Given the description of an element on the screen output the (x, y) to click on. 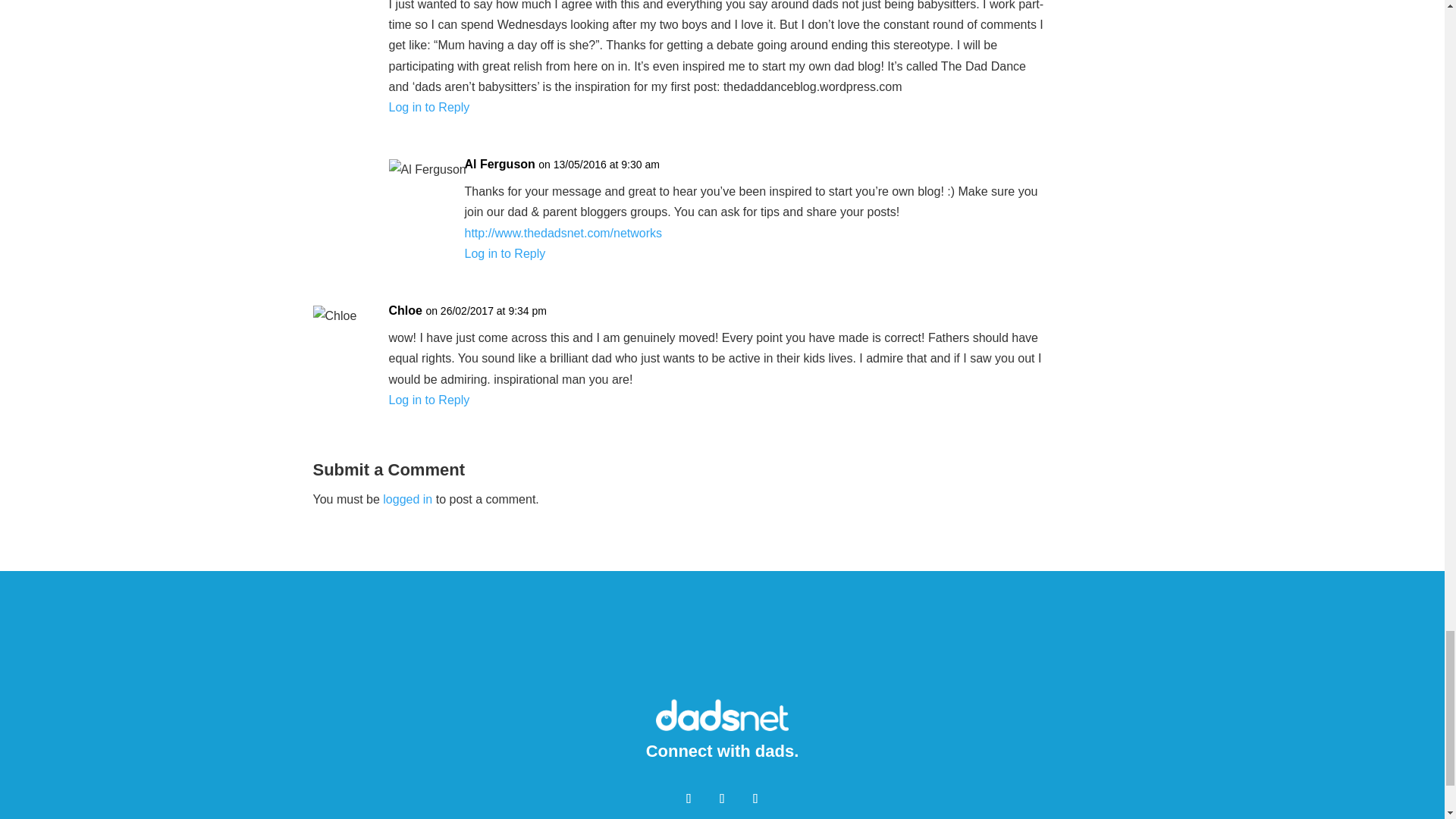
Follow on X (721, 798)
Follow on Instagram (754, 798)
3rd party ad content (722, 645)
Dadsnet-Logo-White (722, 714)
Follow on Facebook (688, 798)
